Given the description of an element on the screen output the (x, y) to click on. 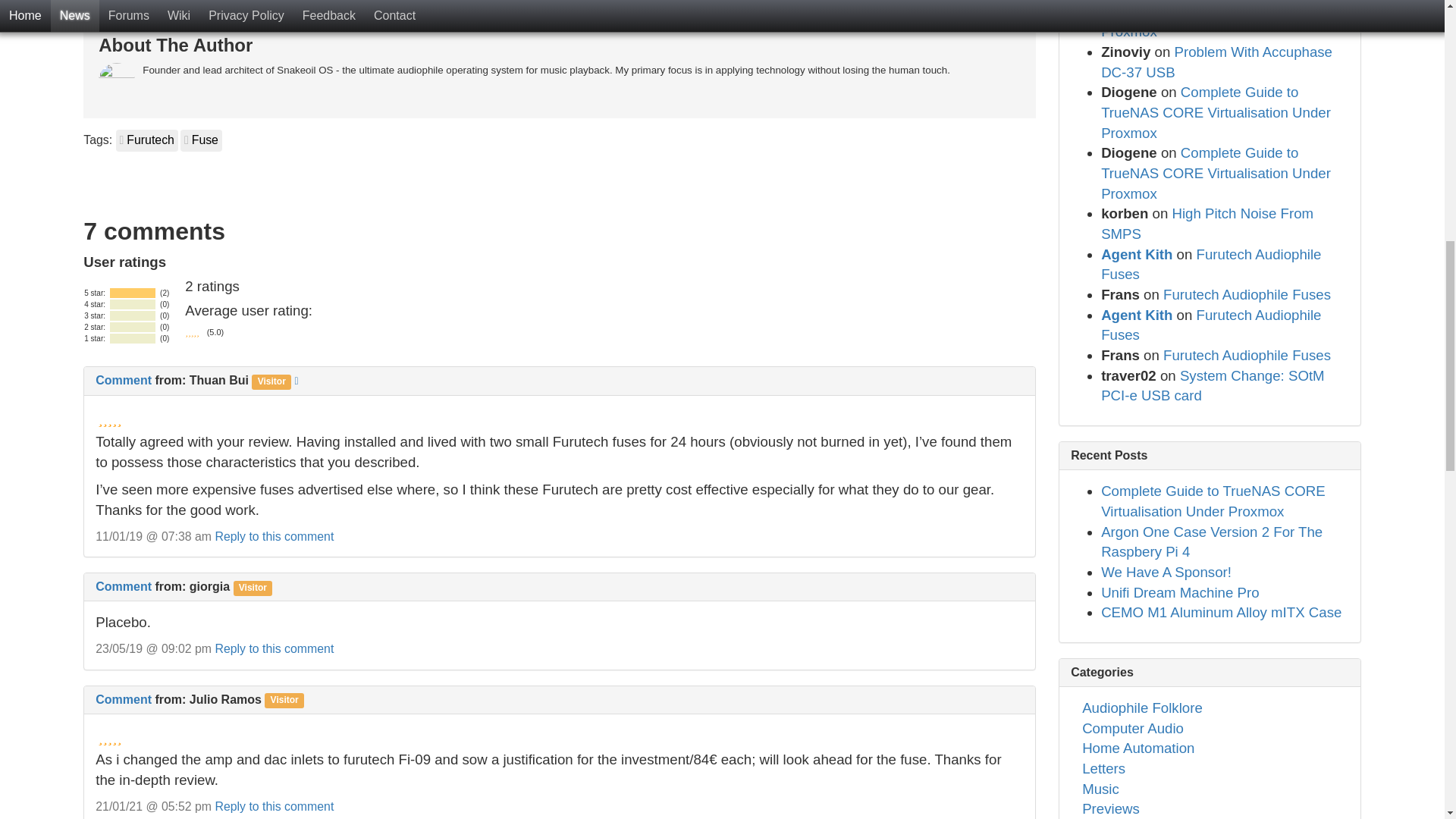
Furutech (146, 140)
Reply to this comment (273, 648)
Fuse (201, 140)
Reply to this comment (273, 806)
Send email to comment author (296, 379)
Permanent link to this comment (123, 698)
Comment (123, 379)
Send email to comment author (296, 380)
Comment (123, 585)
Permanent link to this comment (123, 585)
Permanent link to this comment (123, 379)
Reply to this comment (273, 648)
Reply to this comment (273, 535)
Reply to this comment (273, 535)
